Given the description of an element on the screen output the (x, y) to click on. 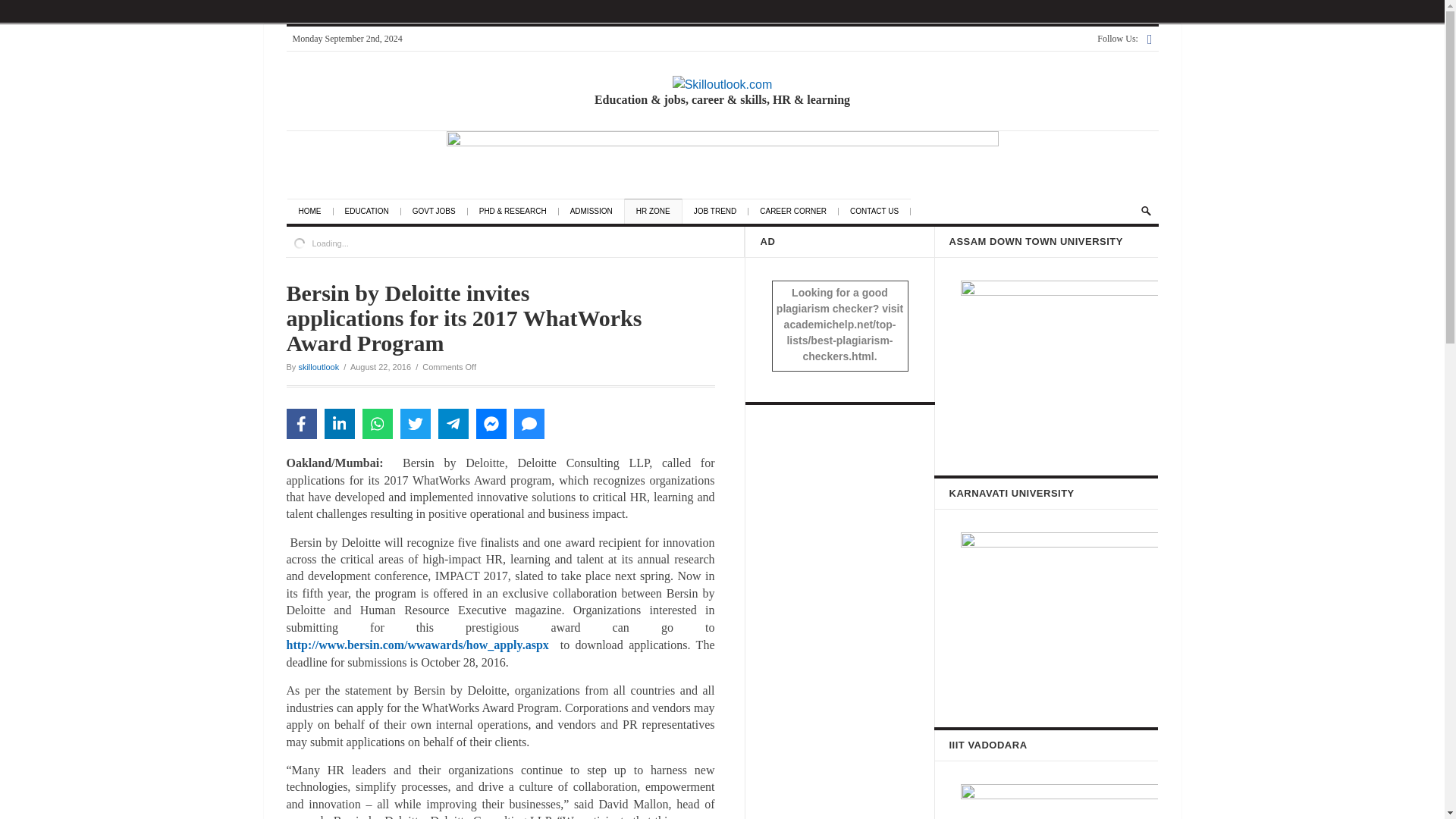
ADMISSION (597, 211)
HOME (315, 211)
CONTACT US (880, 211)
skilloutlook (318, 366)
Posts by skilloutlook (318, 366)
JOB TREND (721, 211)
HR ZONE (658, 211)
Karnavati University (1058, 614)
CAREER CORNER (799, 211)
EDUCATION (371, 211)
